Given the description of an element on the screen output the (x, y) to click on. 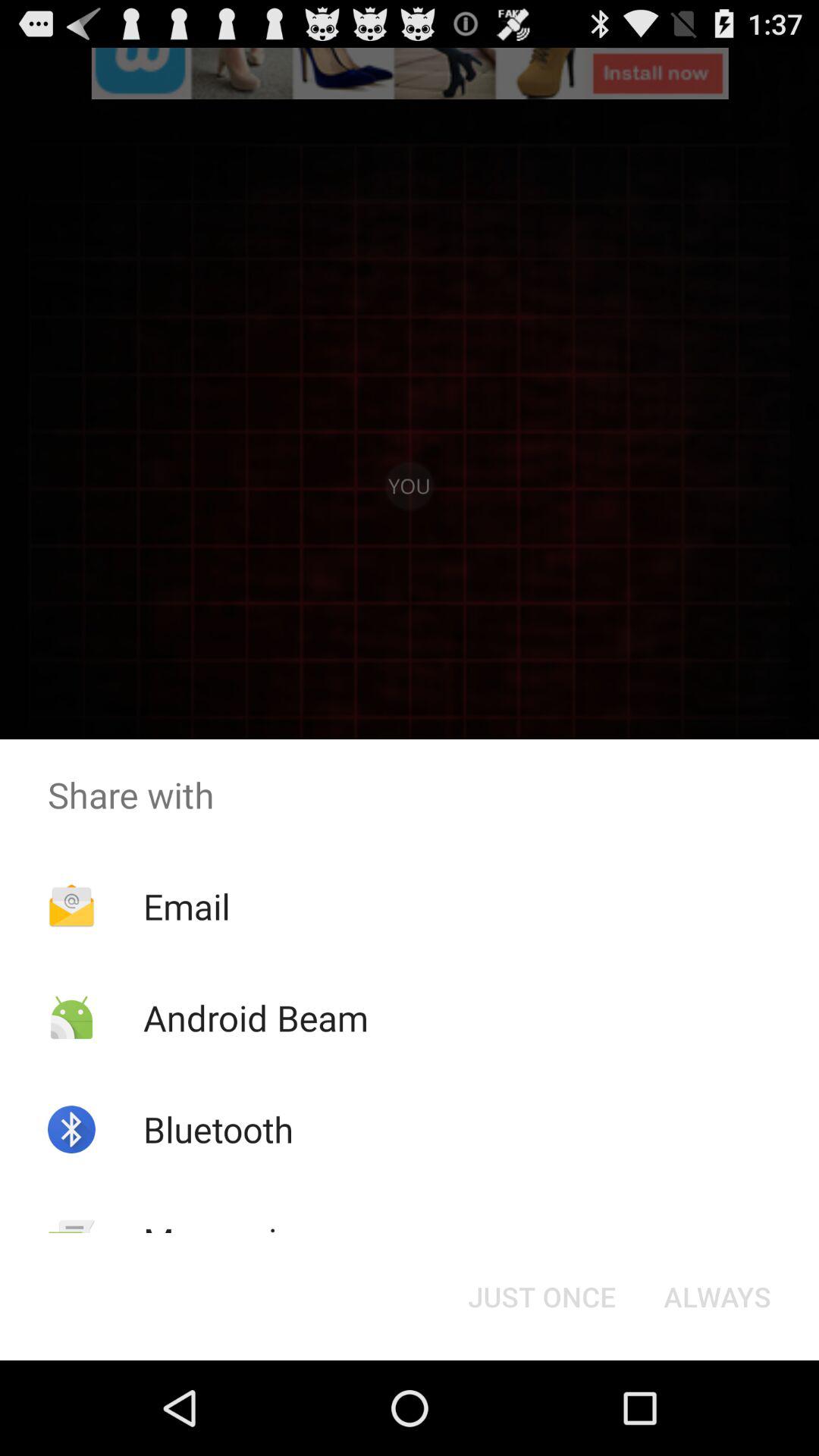
select app above the messaging item (218, 1129)
